Given the description of an element on the screen output the (x, y) to click on. 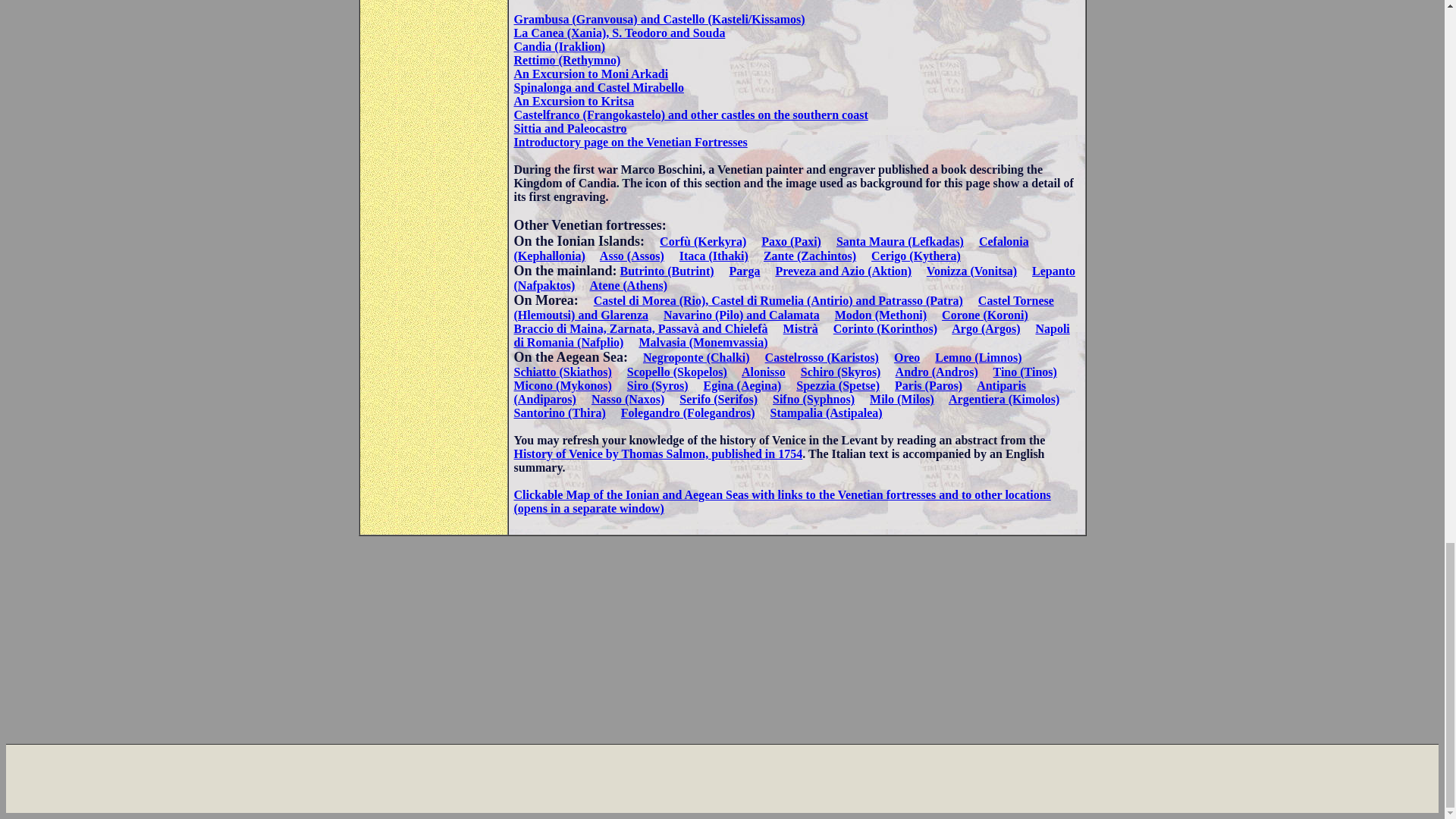
Sittia and Paleocastro (570, 128)
Spinalonga and Castel Mirabello (598, 87)
Introductory page on the Venetian Fortresses (630, 141)
An Excursion to Kritsa (573, 101)
An Excursion to Moni Arkadi (590, 73)
